Given the description of an element on the screen output the (x, y) to click on. 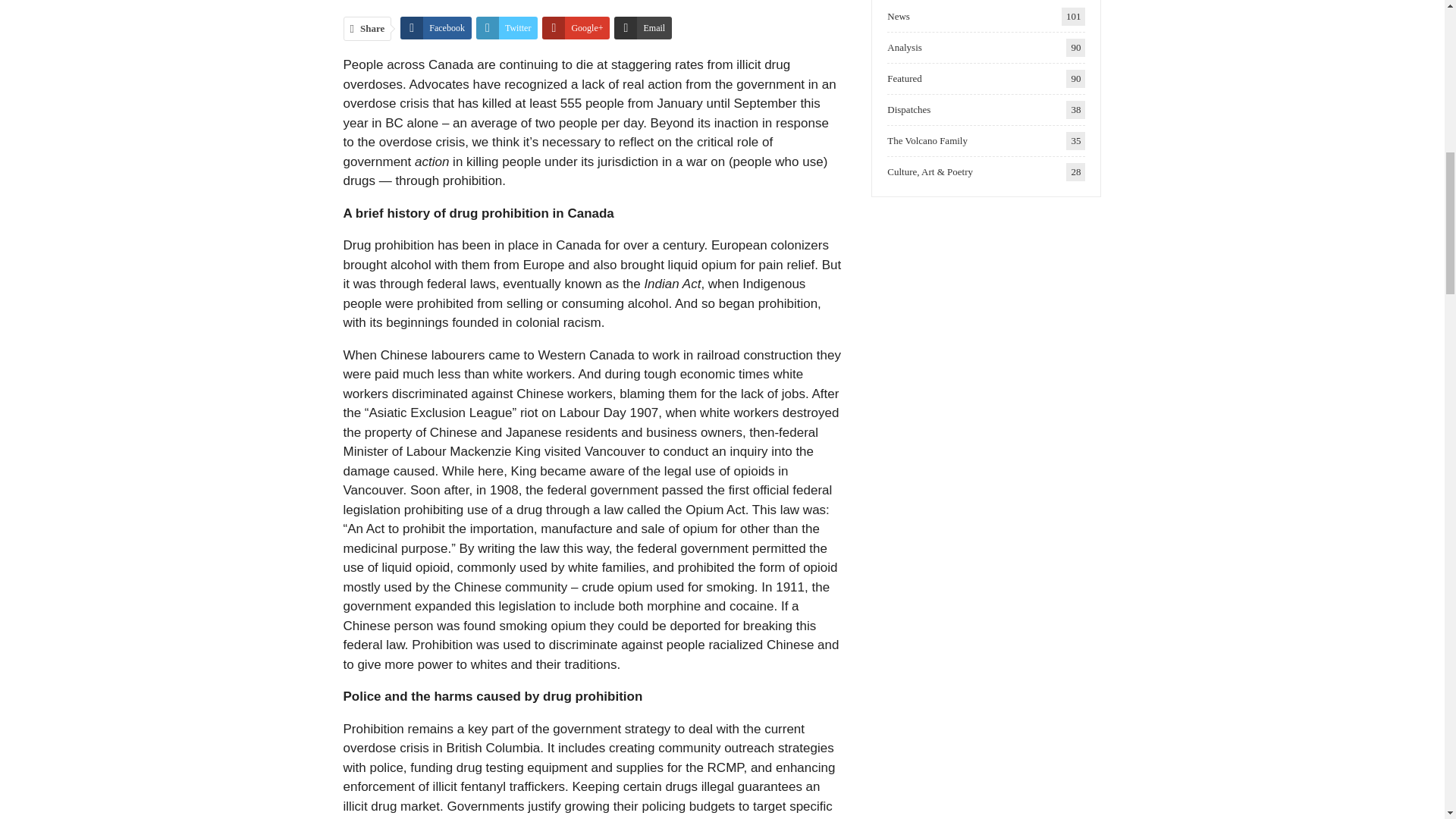
Facebook (435, 27)
Email (642, 27)
Browse Author Articles (401, 0)
Twitter (506, 27)
